Given the description of an element on the screen output the (x, y) to click on. 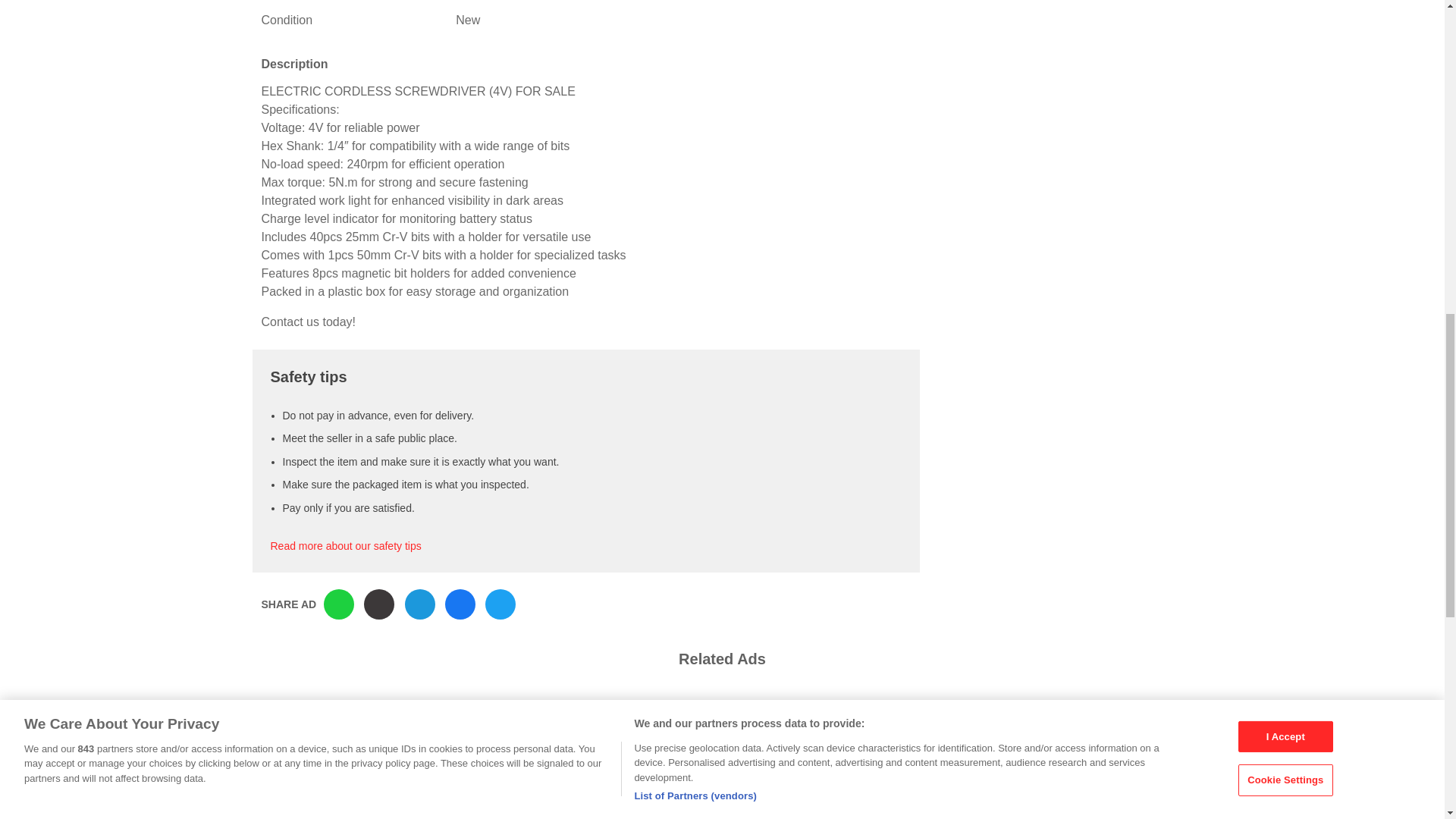
Copy link (379, 603)
Read more about our safety tips (344, 545)
Share via Twitter (499, 603)
Share via Email (419, 603)
Share via Facebook (460, 603)
Share via WhatsApp (338, 603)
